Given the description of an element on the screen output the (x, y) to click on. 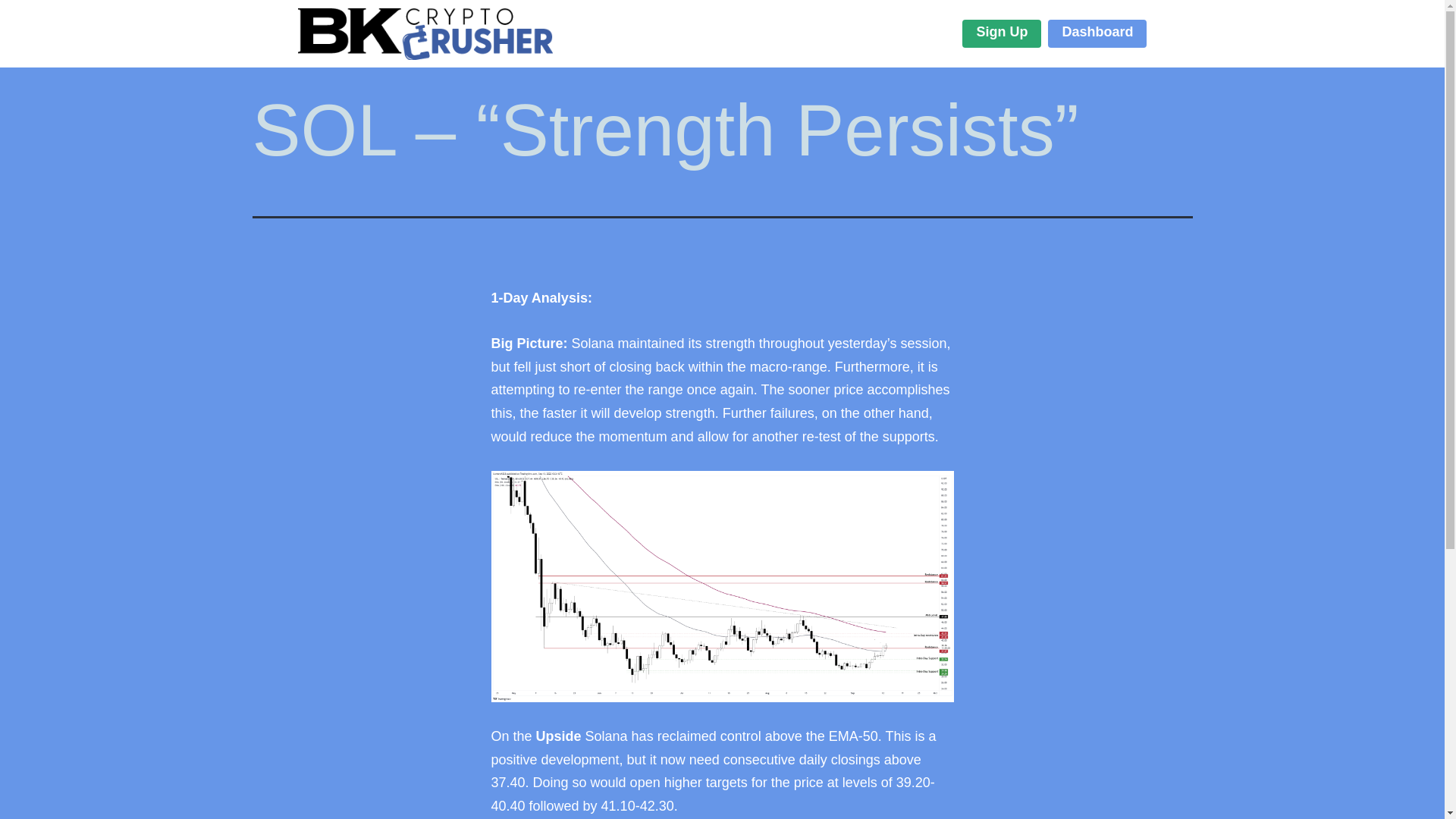
Sign Up (1001, 33)
Dashboard (1097, 33)
